Given the description of an element on the screen output the (x, y) to click on. 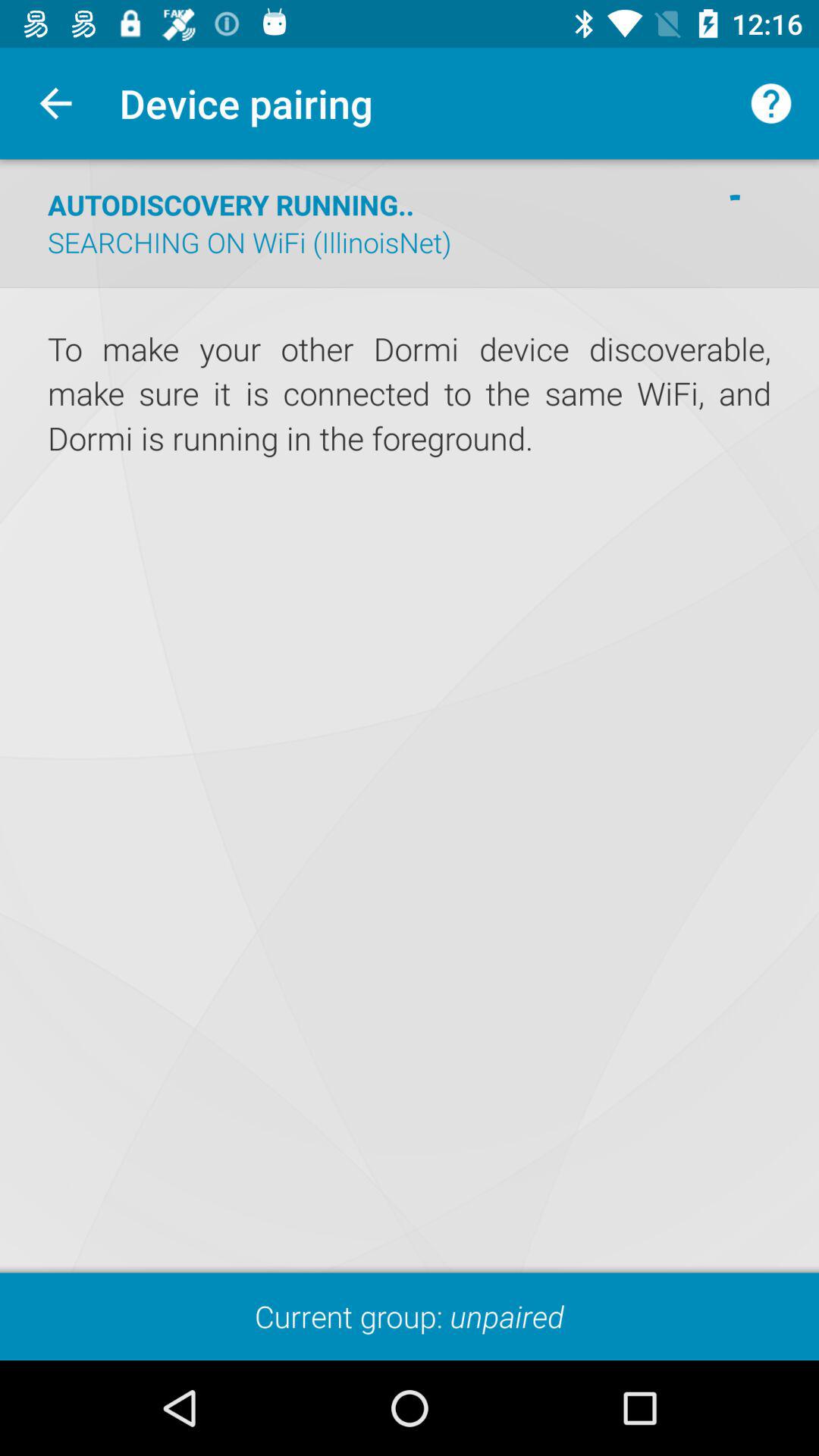
flip until searching on wifi item (249, 242)
